Given the description of an element on the screen output the (x, y) to click on. 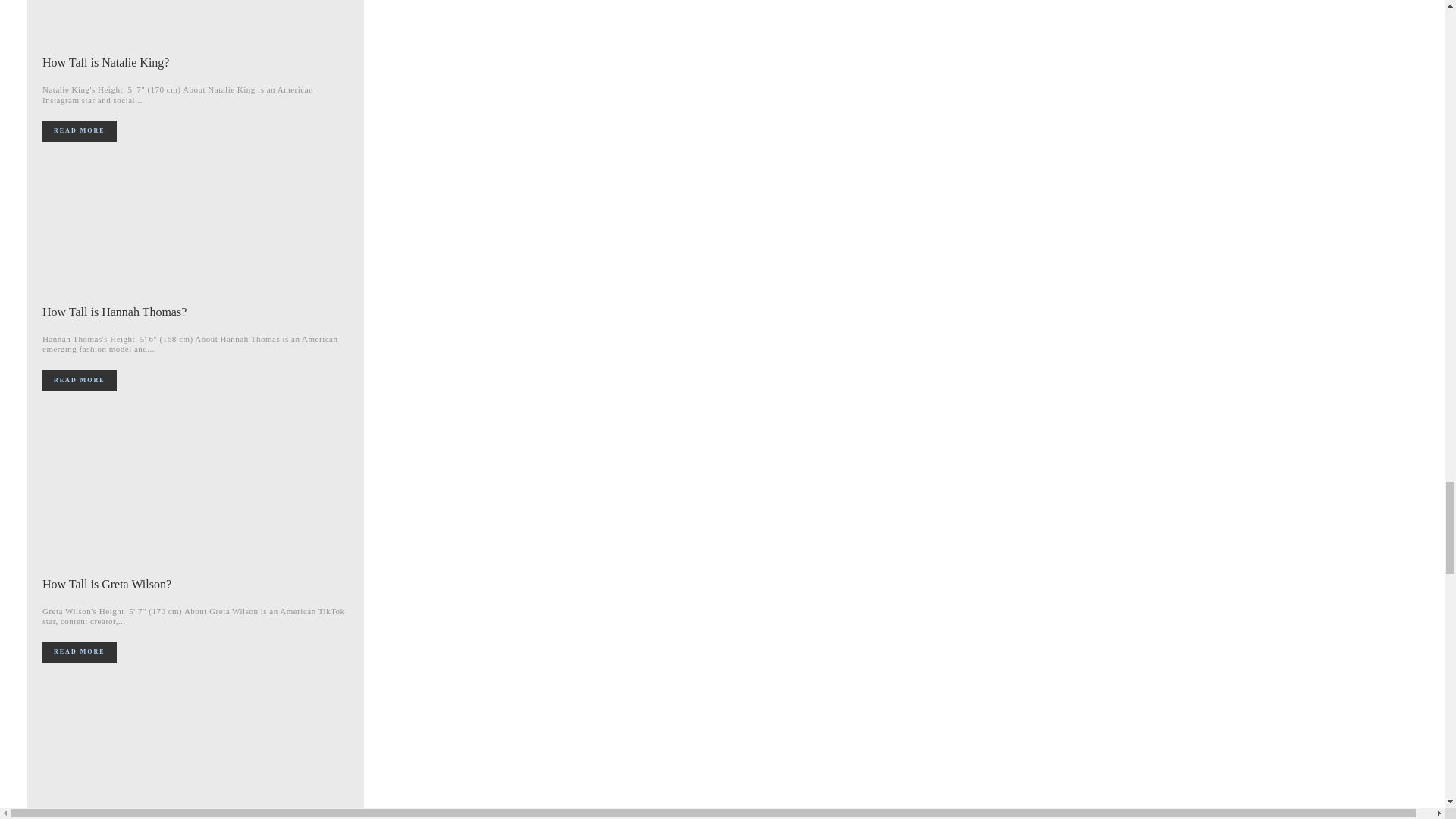
Read more (79, 380)
How Tall is Hannah Thomas? (195, 217)
How Tall is Hannah Thomas? (114, 311)
How Tall is Natalie King? (105, 62)
Read more (79, 130)
How Tall is Natalie King? (195, 22)
